Given the description of an element on the screen output the (x, y) to click on. 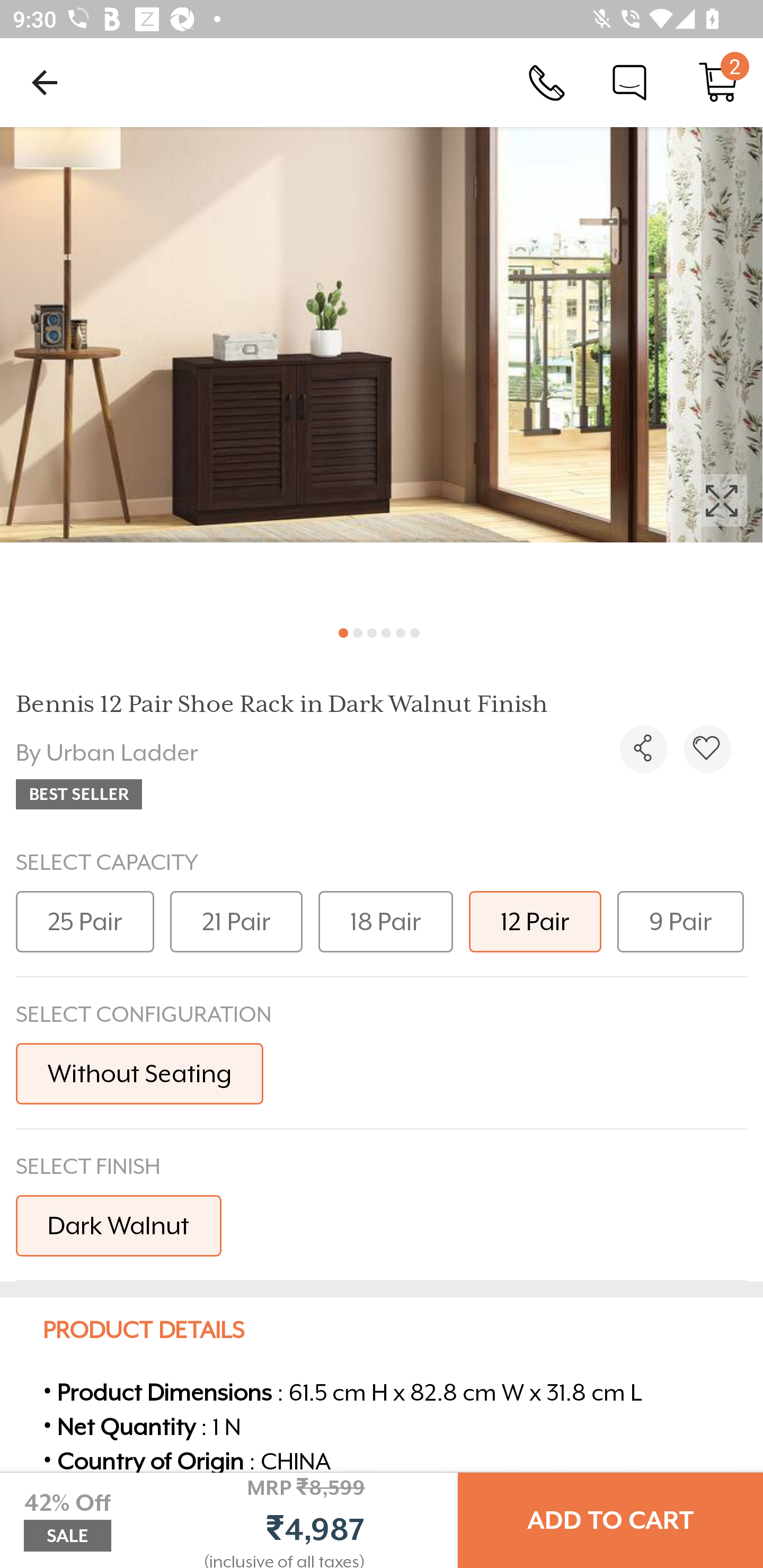
Navigate up (44, 82)
Call Us (546, 81)
Chat (629, 81)
Cart (718, 81)
 (381, 370)
 (643, 748)
 (706, 748)
25 Pair (85, 920)
21 Pair (236, 920)
18 Pair (385, 920)
12 Pair (535, 920)
9 Pair (680, 920)
Without Seating (139, 1072)
Dark Walnut (118, 1224)
ADD TO CART (610, 1520)
